Given the description of an element on the screen output the (x, y) to click on. 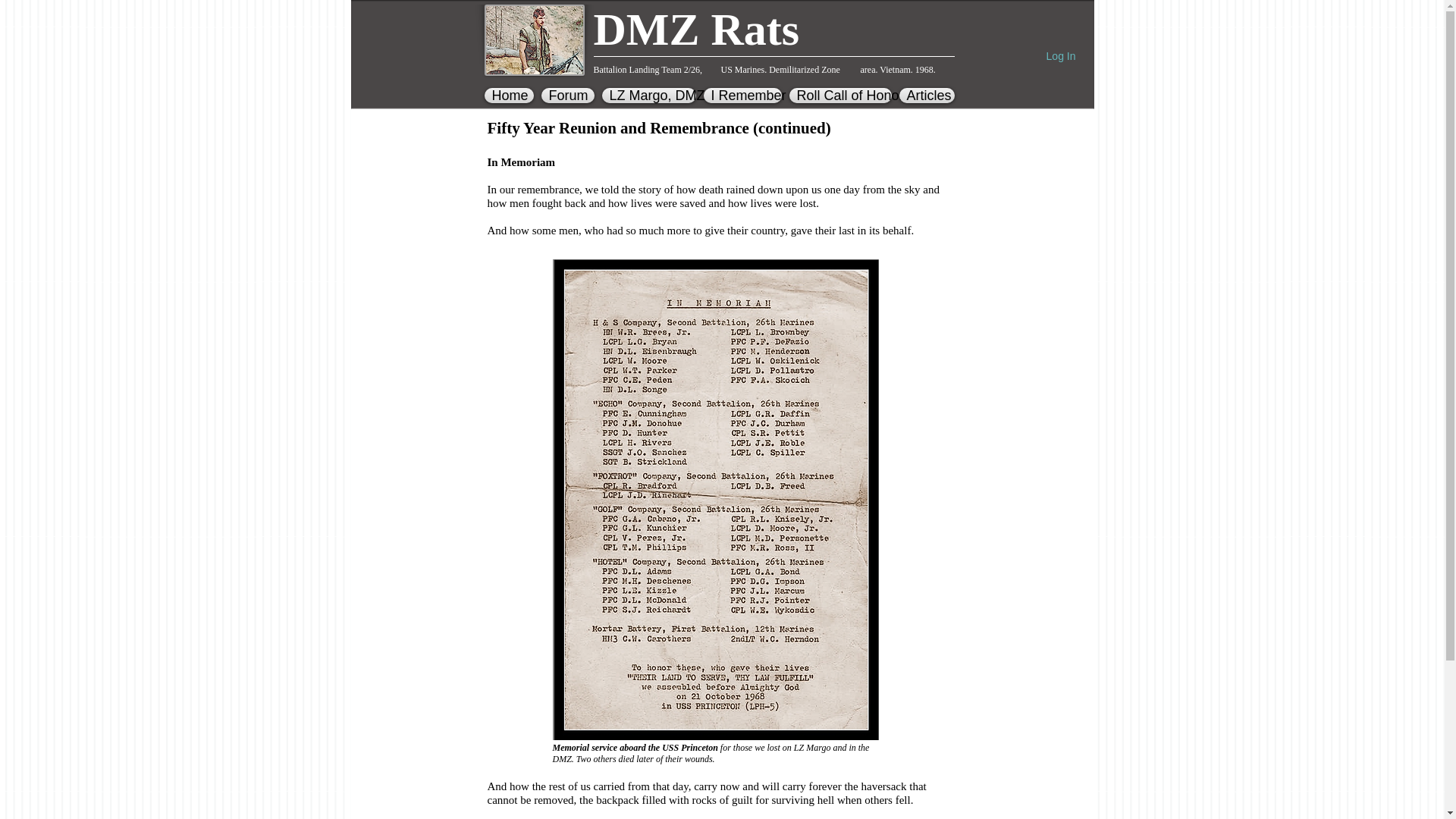
DMZ Rats (695, 29)
Forum (566, 95)
Log In (1060, 56)
I Remember (741, 95)
LZ Margo, DMZ (647, 95)
Home (510, 95)
